Given the description of an element on the screen output the (x, y) to click on. 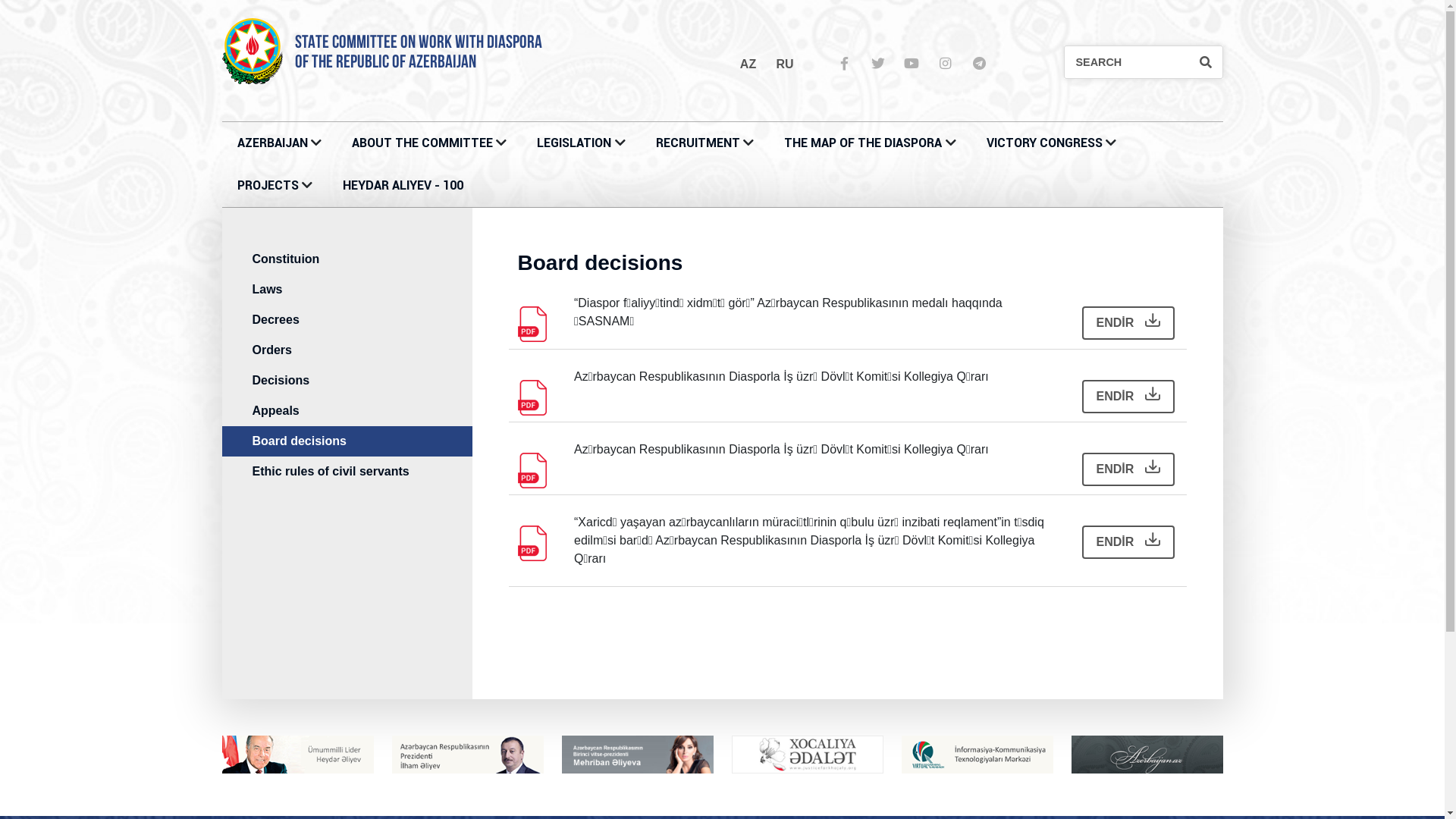
THE MAP OF THE DIASPORA Element type: text (862, 142)
HEYDAR ALIYEV - 100 Element type: text (402, 185)
AZ Element type: text (747, 63)
Ethic rules of civil servants Element type: text (361, 471)
ABOUT THE COMMITTEE Element type: text (421, 142)
Board decisions Element type: text (361, 441)
Orders Element type: text (361, 350)
RECRUITMENT Element type: text (697, 142)
Decisions Element type: text (361, 380)
VICTORY CONGRESS Element type: text (1044, 142)
LEGISLATION Element type: text (573, 142)
PROJECTS Element type: text (267, 185)
Appeals Element type: text (361, 410)
Constituion Element type: text (361, 259)
Laws Element type: text (361, 289)
AZERBAIJAN Element type: text (271, 142)
RU Element type: text (784, 63)
Decrees Element type: text (361, 319)
